Given the description of an element on the screen output the (x, y) to click on. 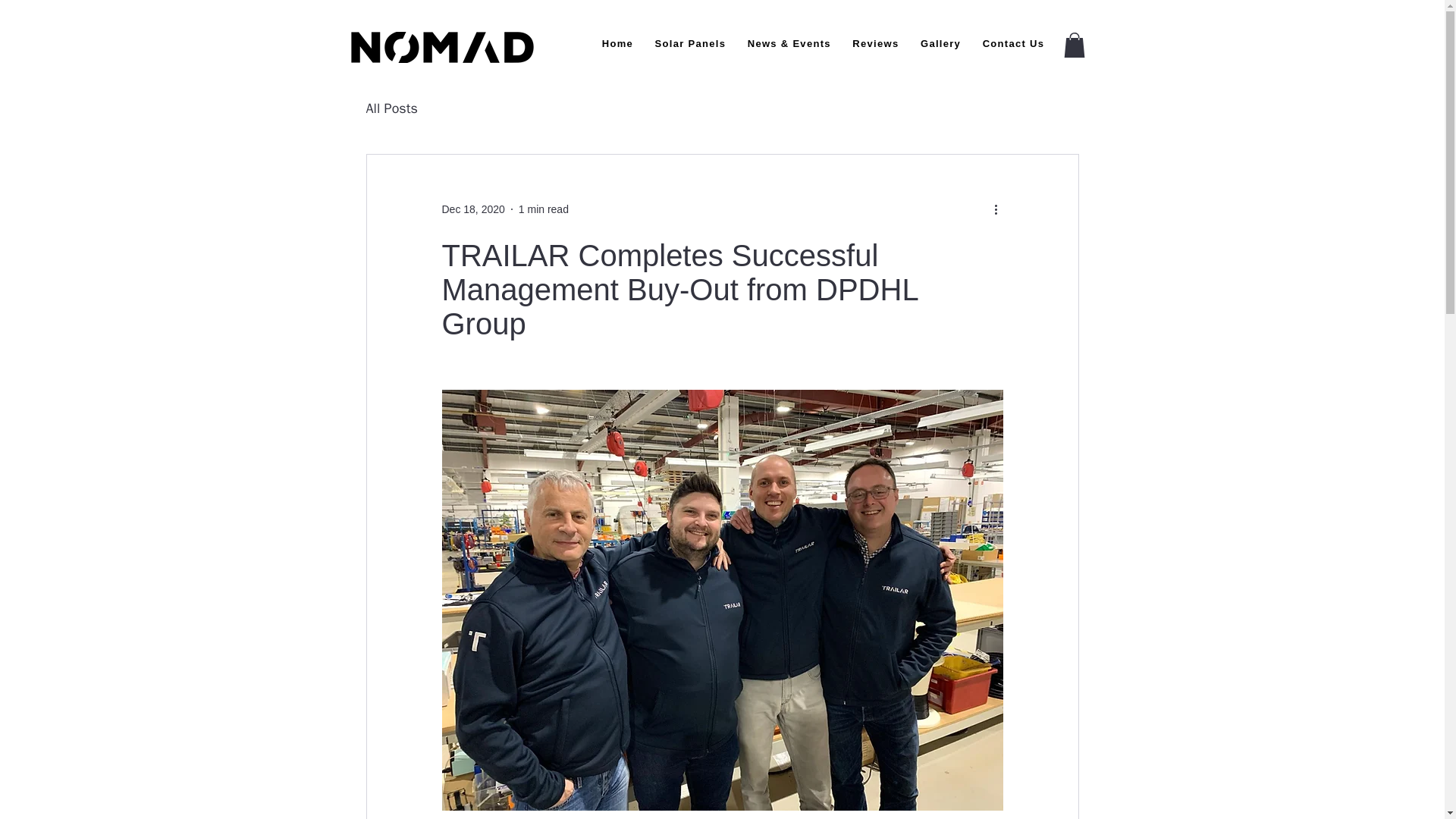
1 min read (543, 209)
Solar Panels (689, 44)
Home (617, 44)
All Posts (390, 108)
Gallery (940, 44)
Contact Us (1013, 44)
Dec 18, 2020 (472, 209)
Reviews (875, 44)
